Given the description of an element on the screen output the (x, y) to click on. 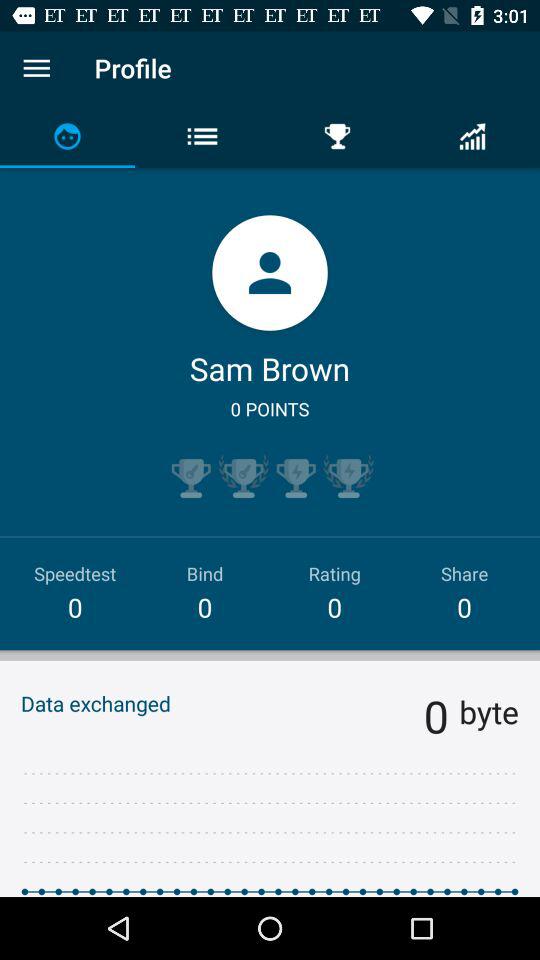
open the icon next to profile item (36, 68)
